Given the description of an element on the screen output the (x, y) to click on. 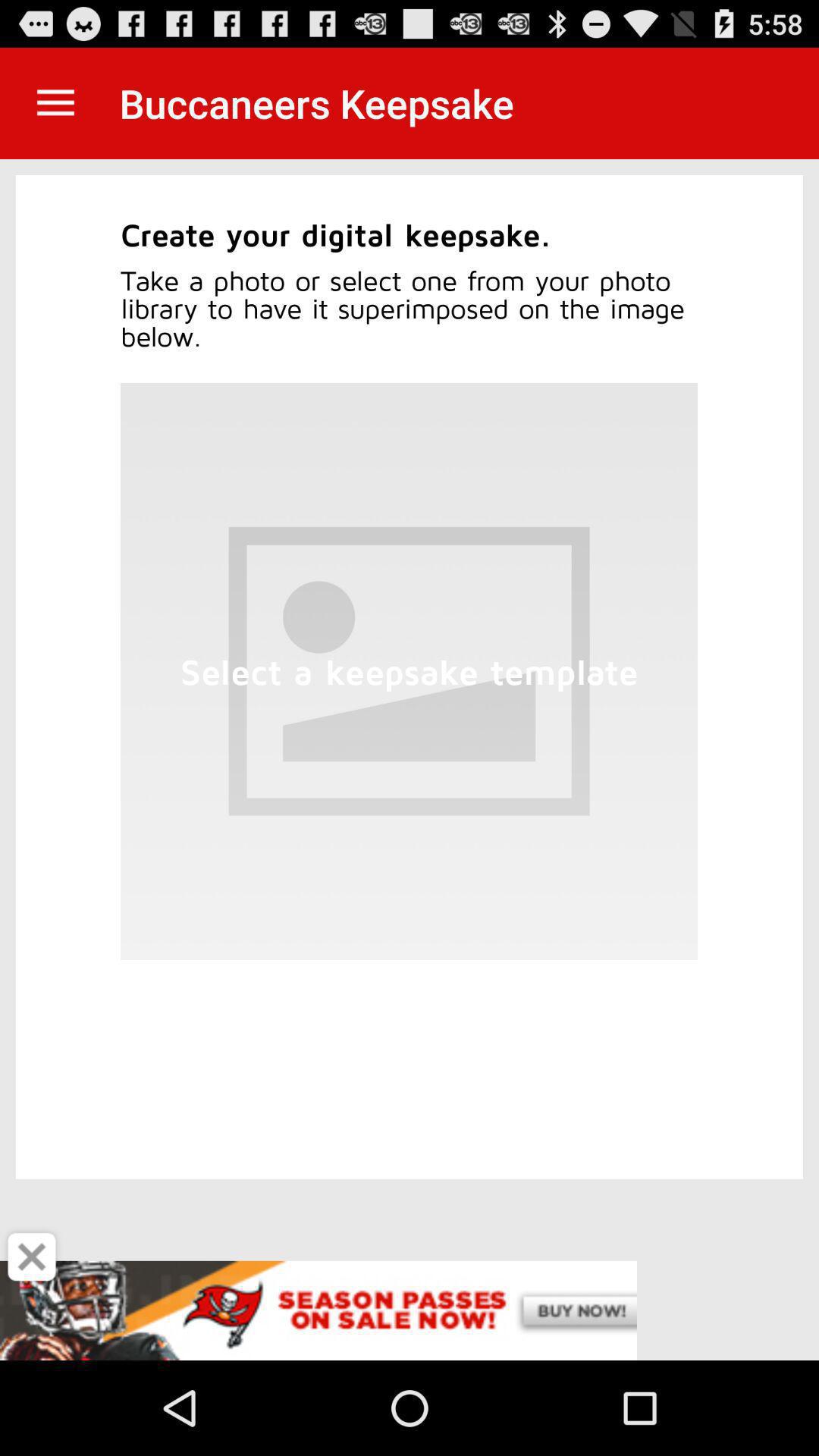
advertisement (409, 1310)
